Given the description of an element on the screen output the (x, y) to click on. 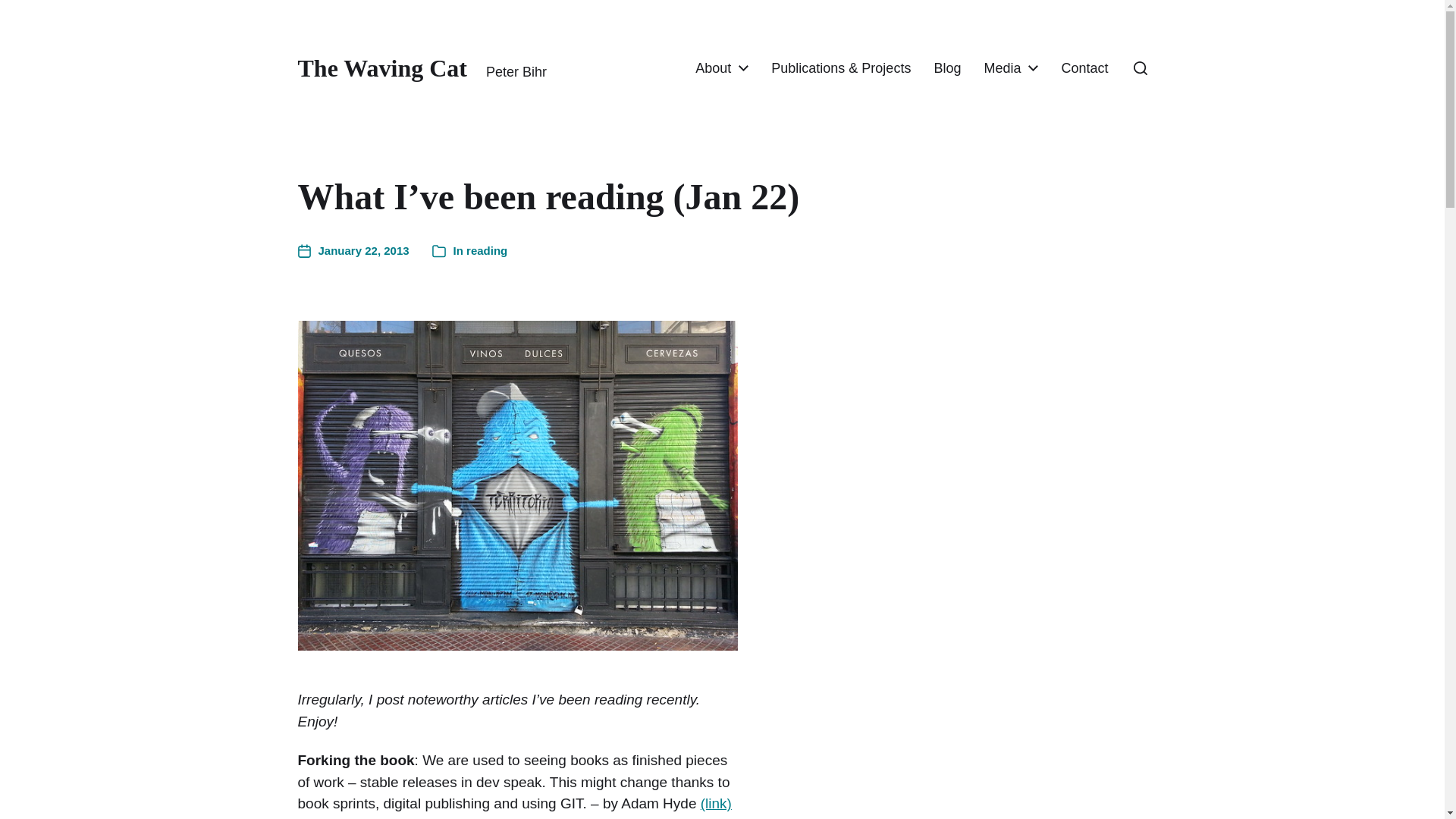
The Waving Cat (381, 68)
Media (1002, 68)
Contact (1084, 68)
January 22, 2013 (353, 251)
Blog (946, 68)
reading (485, 250)
About (712, 68)
